Given the description of an element on the screen output the (x, y) to click on. 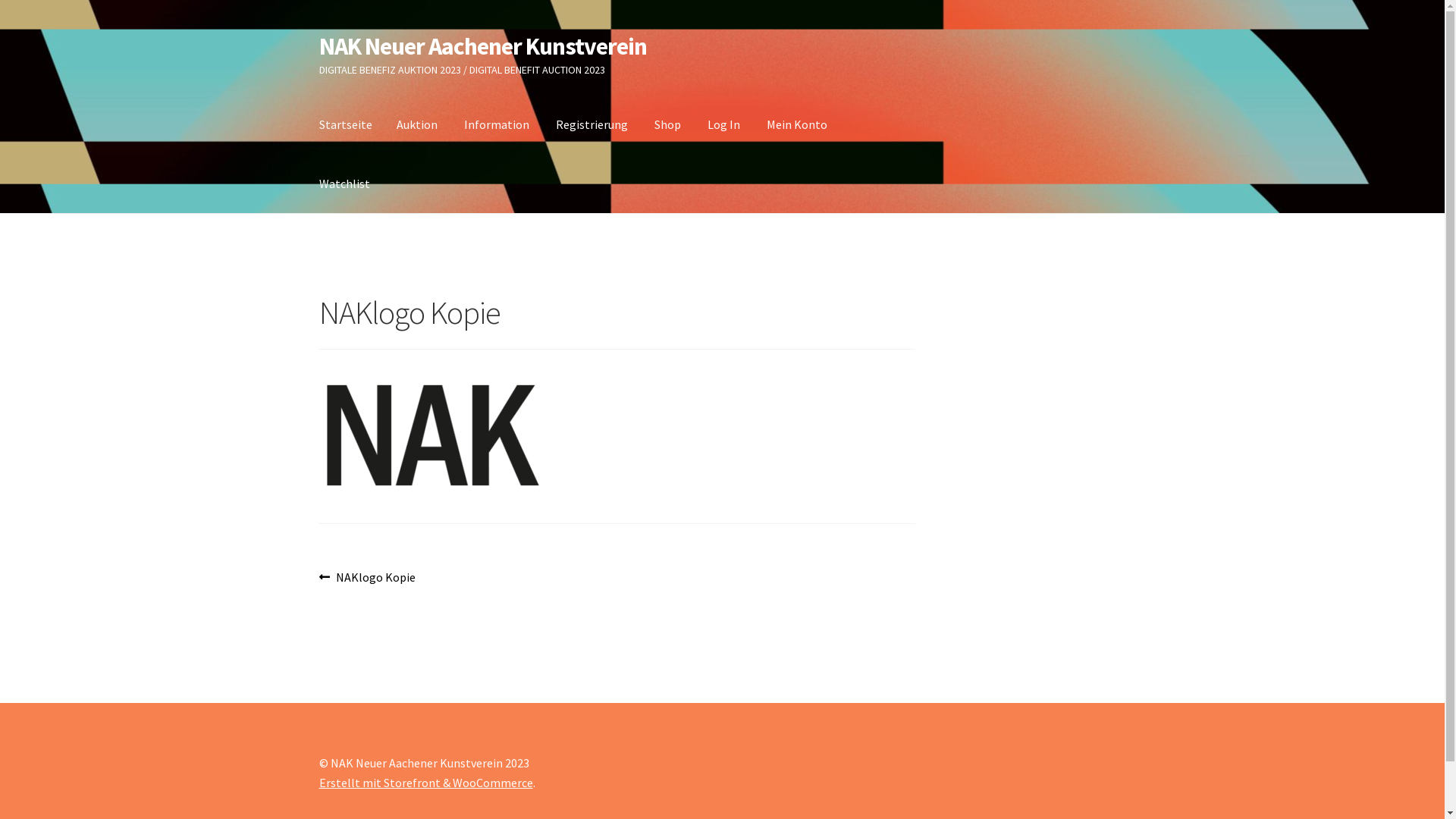
Vorheriger Beitrag:
NAKlogo Kopie Element type: text (367, 577)
Startseite Element type: text (345, 124)
Erstellt mit Storefront & WooCommerce Element type: text (426, 782)
Registrierung Element type: text (591, 124)
Information Element type: text (496, 124)
NAK Neuer Aachener Kunstverein Element type: text (482, 46)
Auktion Element type: text (416, 124)
Zur Navigation springen Element type: text (318, 31)
Log In Element type: text (723, 124)
Shop Element type: text (667, 124)
Watchlist Element type: text (344, 183)
Mein Konto Element type: text (796, 124)
